Given the description of an element on the screen output the (x, y) to click on. 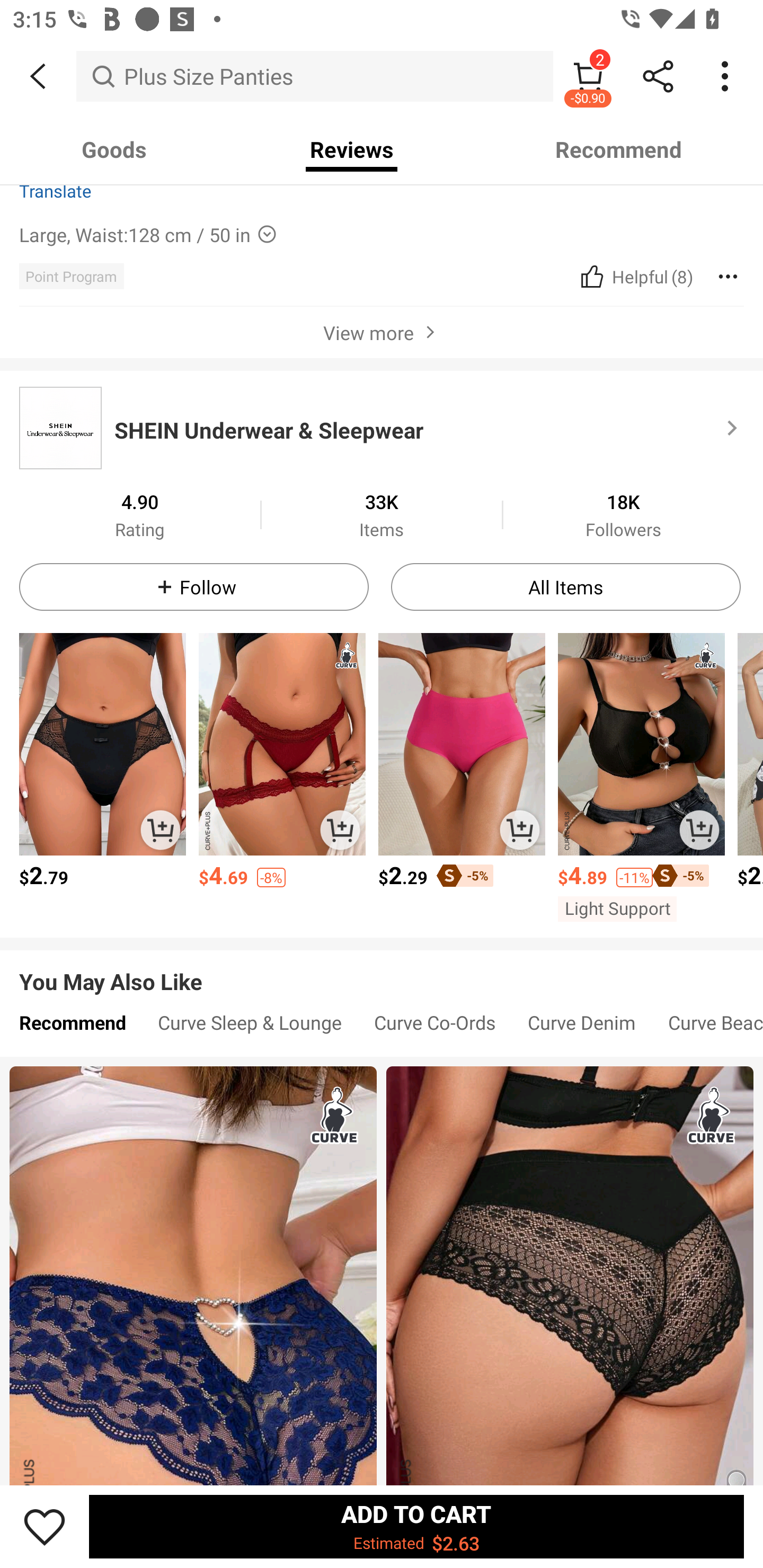
BACK (38, 75)
2 -$0.90 (588, 75)
Plus Size Panties (314, 75)
Goods (114, 149)
Reviews (351, 149)
Recommend (618, 149)
Translate (55, 190)
Cancel Helpful Was this article helpful? (8) (634, 275)
Point Program (71, 275)
View more (381, 331)
Follow (193, 586)
All Items (565, 586)
ADD TO CART (160, 830)
ADD TO CART (339, 830)
ADD TO CART (519, 830)
ADD TO CART (698, 830)
You May Also Like (381, 968)
Recommend (72, 1026)
Curve Sleep & Lounge (249, 1026)
Curve Co-Ords (434, 1026)
Curve Denim (581, 1026)
Plus Floral Lace Panty (569, 1275)
ADD TO CART Estimated   $2.63 (416, 1526)
Save (44, 1526)
